Given the description of an element on the screen output the (x, y) to click on. 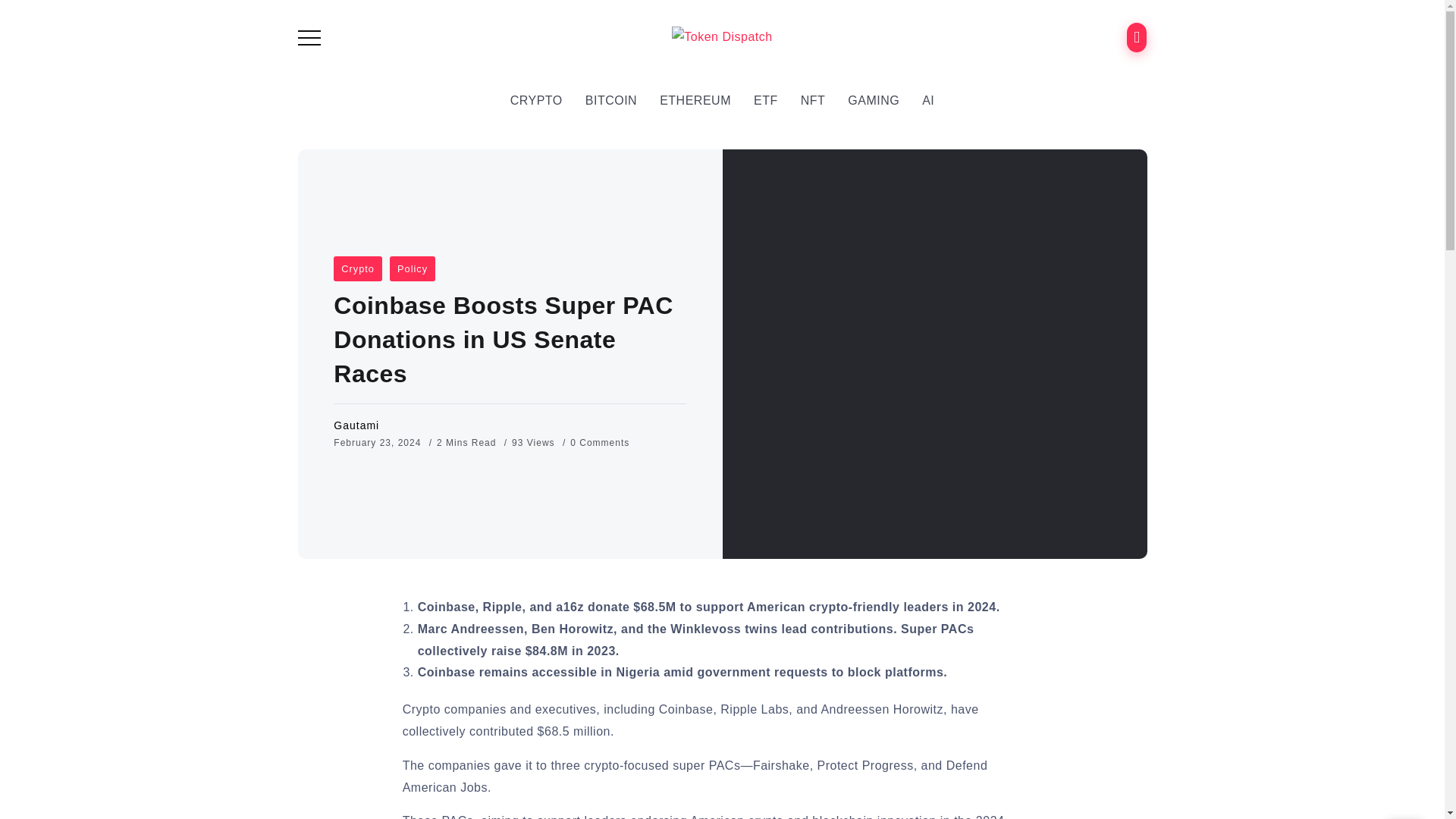
Policy (412, 268)
Gautami (355, 425)
Token Dispatch (721, 36)
BITCOIN (611, 100)
GAMING (873, 100)
CRYPTO (536, 100)
ETHEREUM (694, 100)
Crypto (357, 268)
0 Comments (599, 442)
NFT (812, 100)
